Given the description of an element on the screen output the (x, y) to click on. 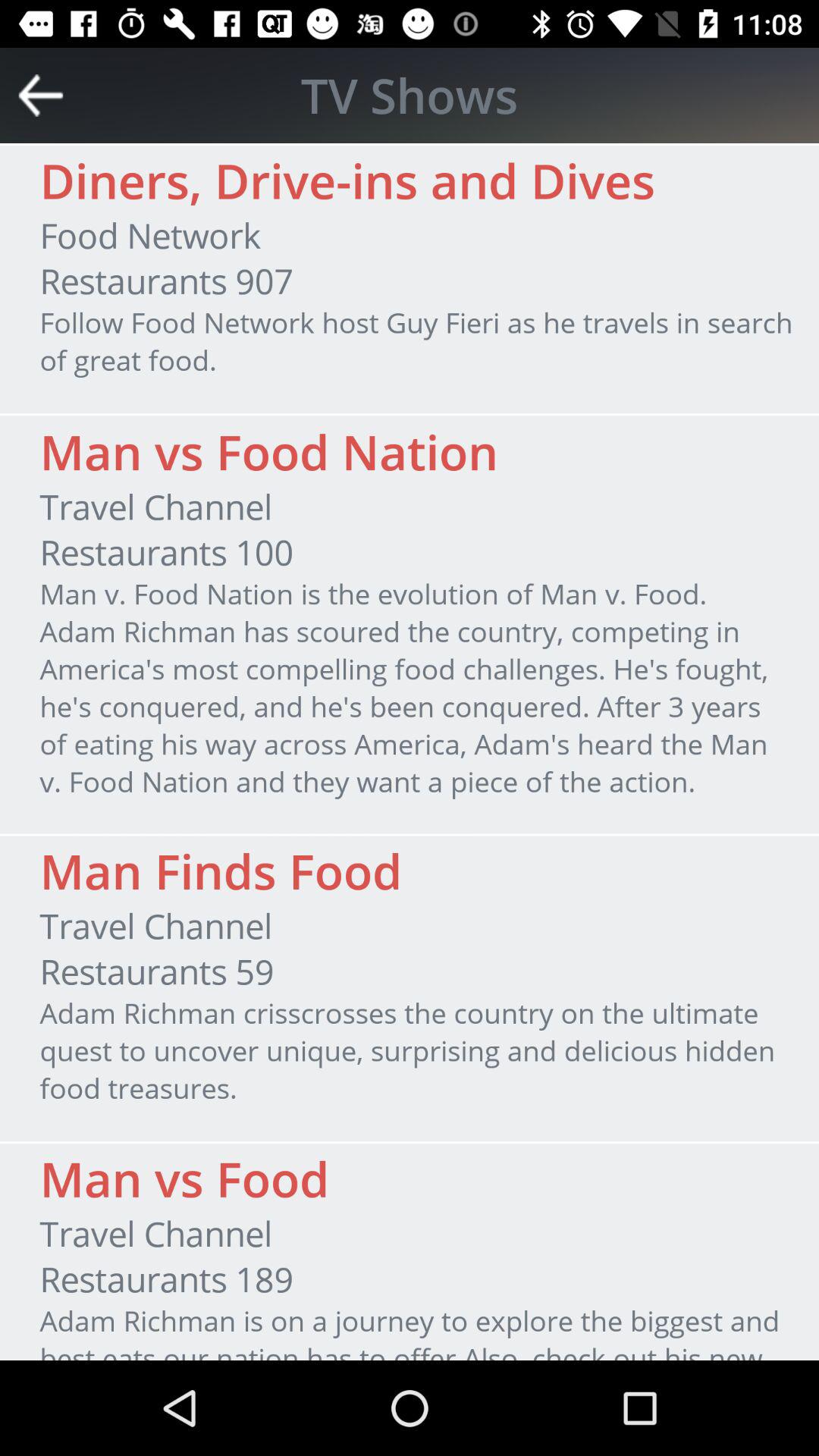
flip to restaurants 907 (166, 280)
